Given the description of an element on the screen output the (x, y) to click on. 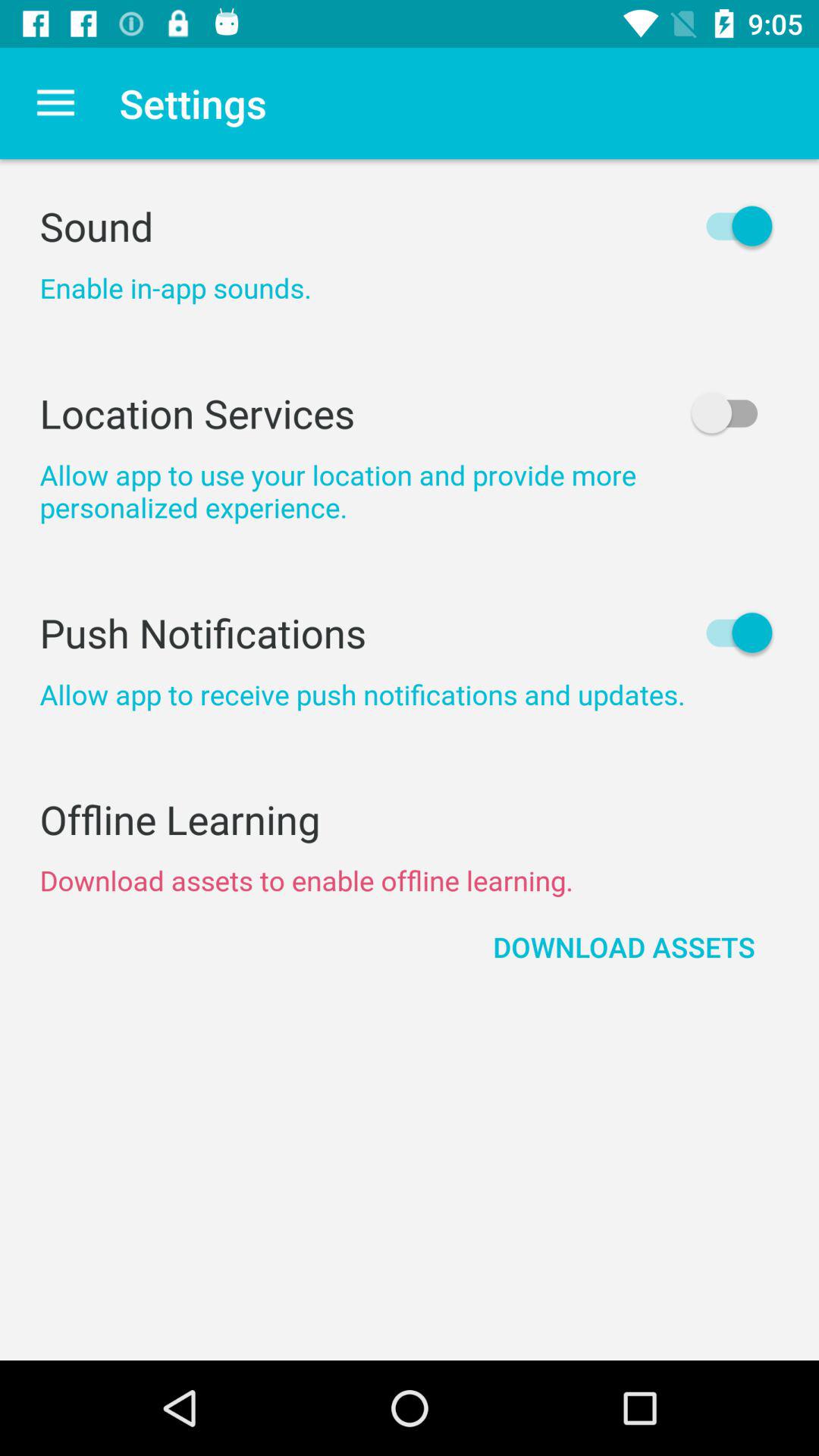
flip until the sound icon (409, 226)
